Given the description of an element on the screen output the (x, y) to click on. 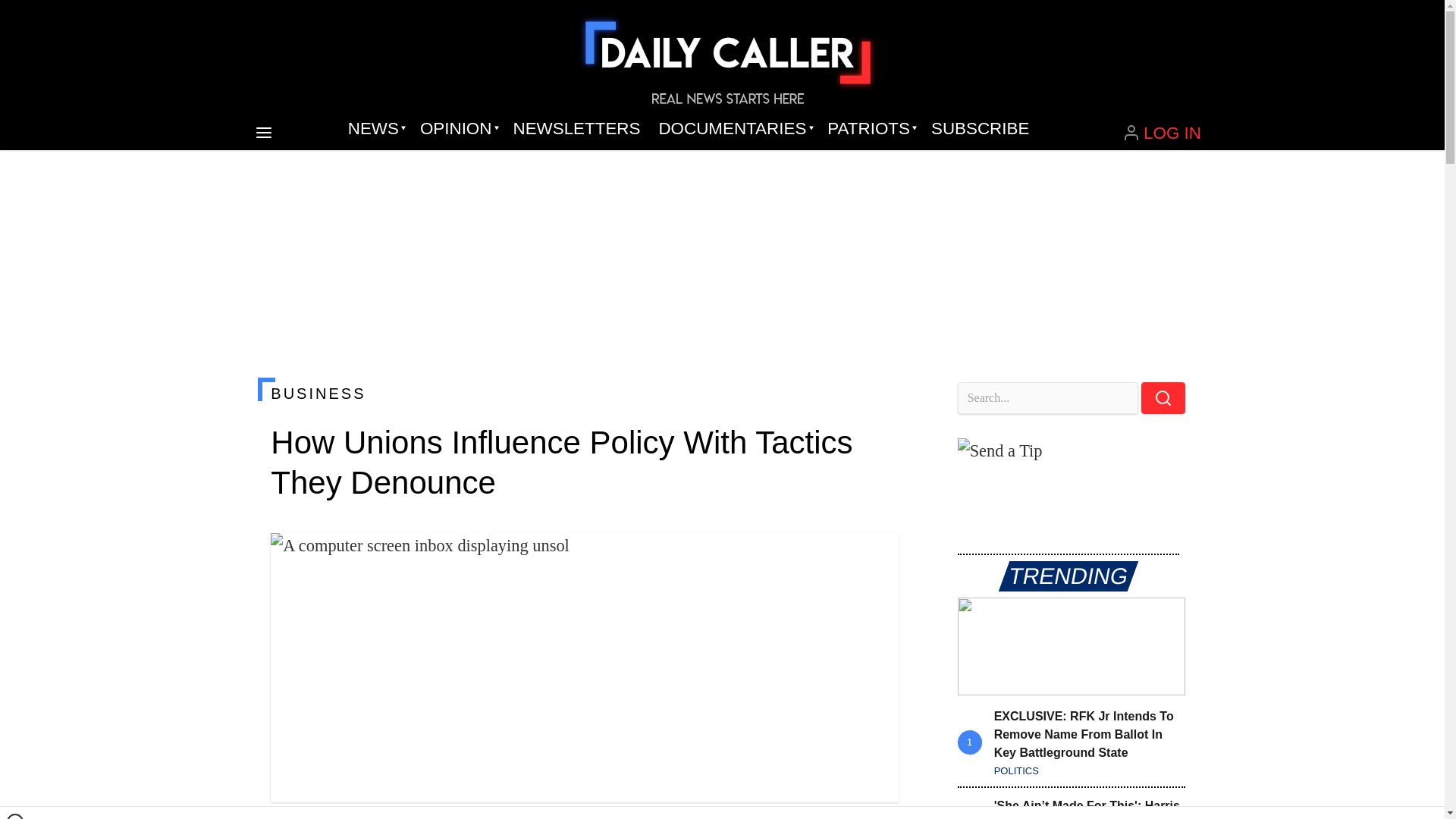
Toggle fullscreen (874, 556)
Close window (14, 816)
DOCUMENTARIES (733, 128)
SUBSCRIBE (979, 128)
NEWSLETTERS (576, 128)
BUSINESS (584, 393)
NEWS (374, 128)
PATRIOTS (869, 128)
